Given the description of an element on the screen output the (x, y) to click on. 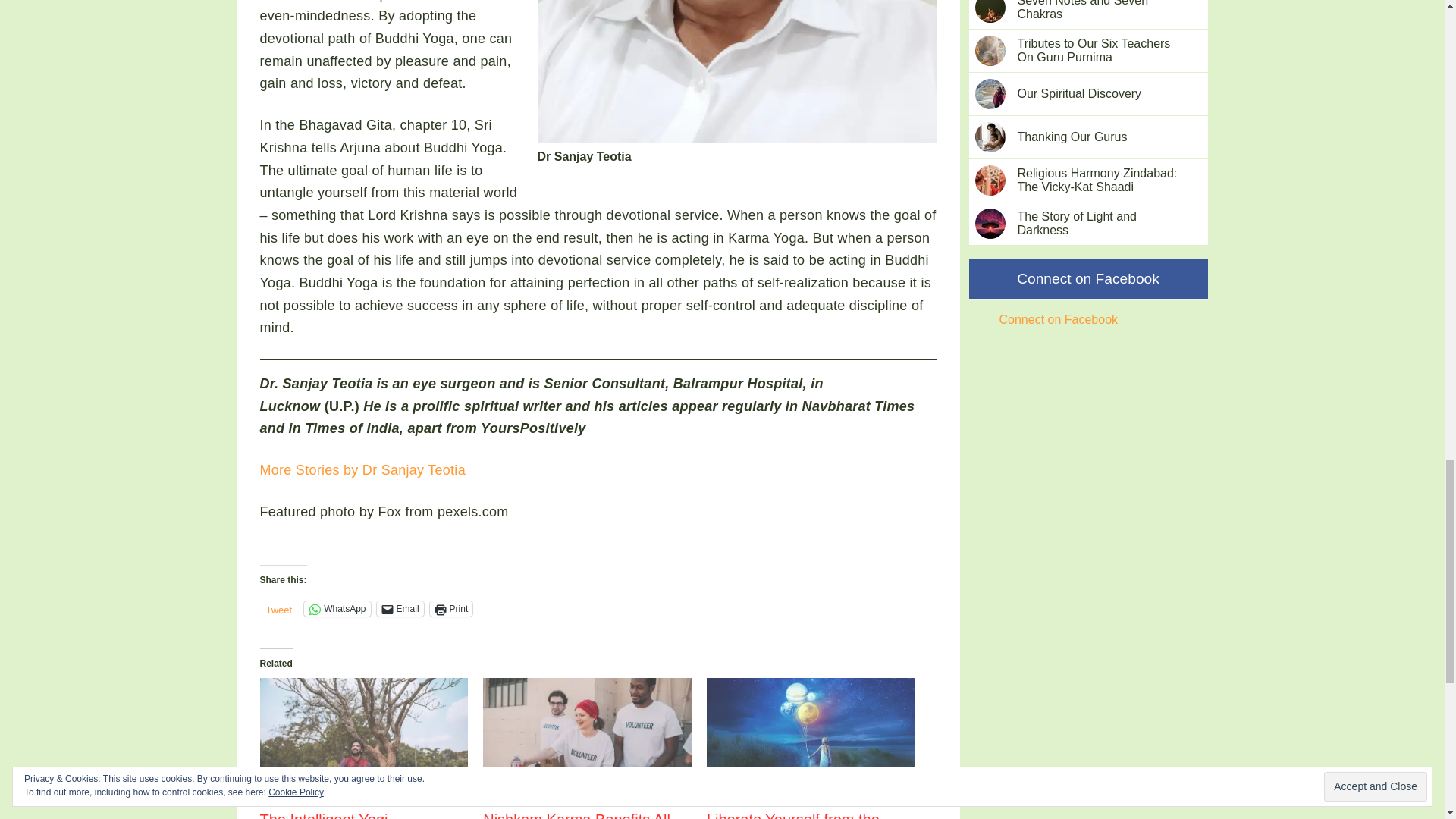
Click to email a link to a friend (400, 608)
Click to share on WhatsApp (336, 608)
Nishkam Karma Benefits All Humanity (576, 815)
Nishkam Karma Benefits All Humanity (587, 737)
The Intelligent Yogi (323, 815)
Tweet (278, 608)
Liberate Yourself from the Cycle of Rebirths (792, 815)
Click to print (451, 608)
The Intelligent Yogi (323, 815)
WhatsApp (336, 608)
Liberate Yourself from the Cycle of Rebirths (792, 815)
Print (451, 608)
Nishkam Karma Benefits All Humanity (576, 815)
Email (400, 608)
The Intelligent Yogi (363, 737)
